Given the description of an element on the screen output the (x, y) to click on. 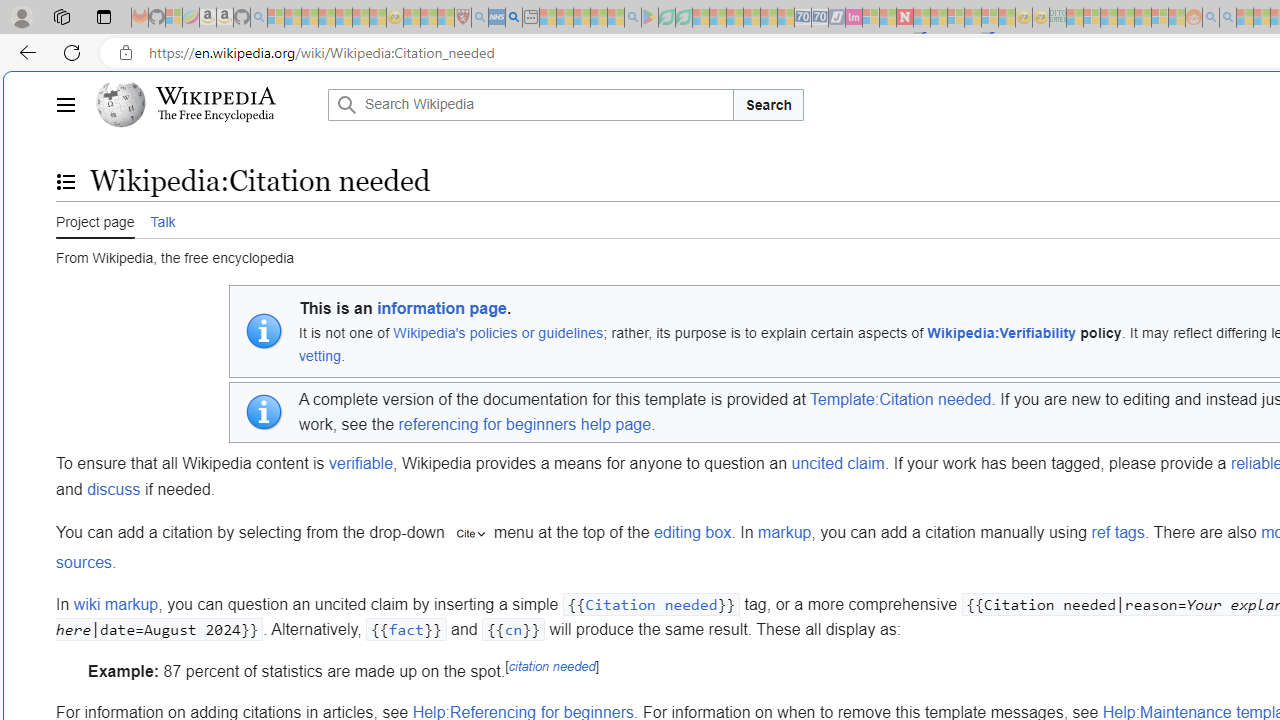
ref tags (1117, 533)
Citation needed (651, 604)
Talk (162, 219)
uncited claim (837, 463)
Wikipedia's policies or guidelines (498, 332)
wiki markup (115, 603)
verifiable (361, 463)
